Given the description of an element on the screen output the (x, y) to click on. 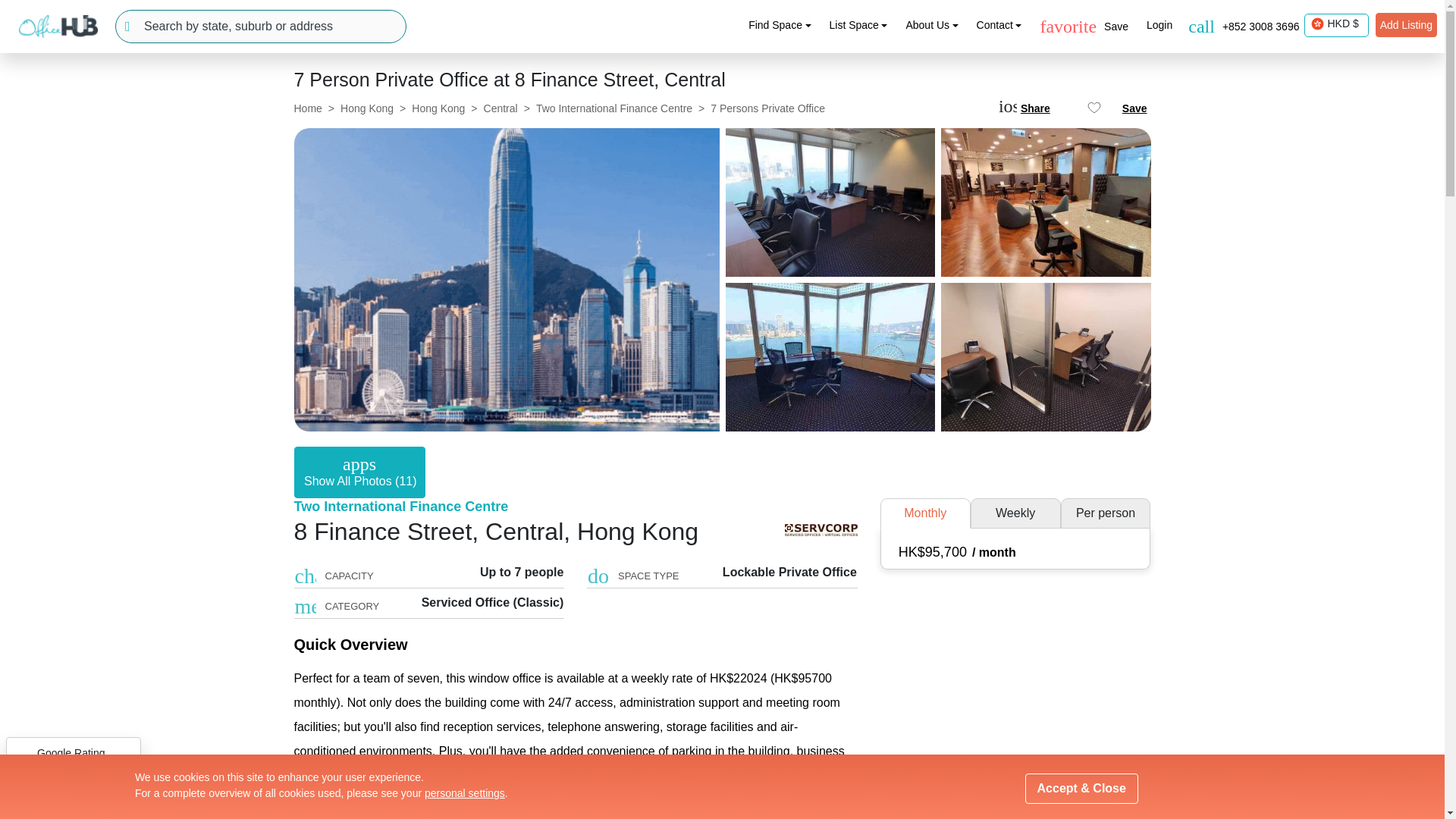
Hong Kong (1317, 23)
personal settings (465, 793)
List Space (858, 25)
office-hub logo (58, 26)
About Us (931, 25)
Find Space (779, 25)
